Given the description of an element on the screen output the (x, y) to click on. 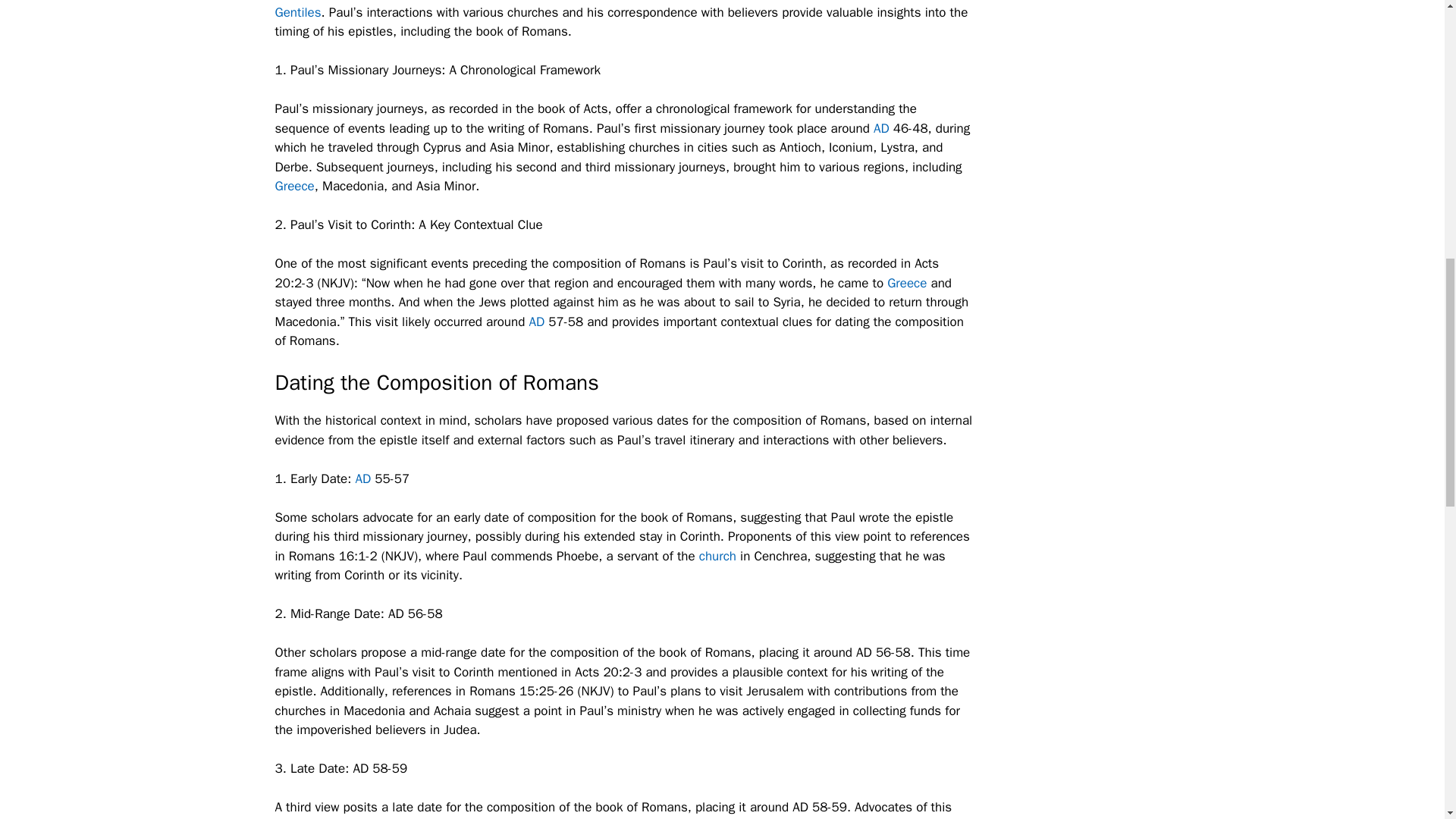
AD (363, 478)
Greece (906, 283)
AD (881, 128)
Gentiles (297, 12)
Greece (294, 186)
church (717, 555)
AD (536, 321)
